Given the description of an element on the screen output the (x, y) to click on. 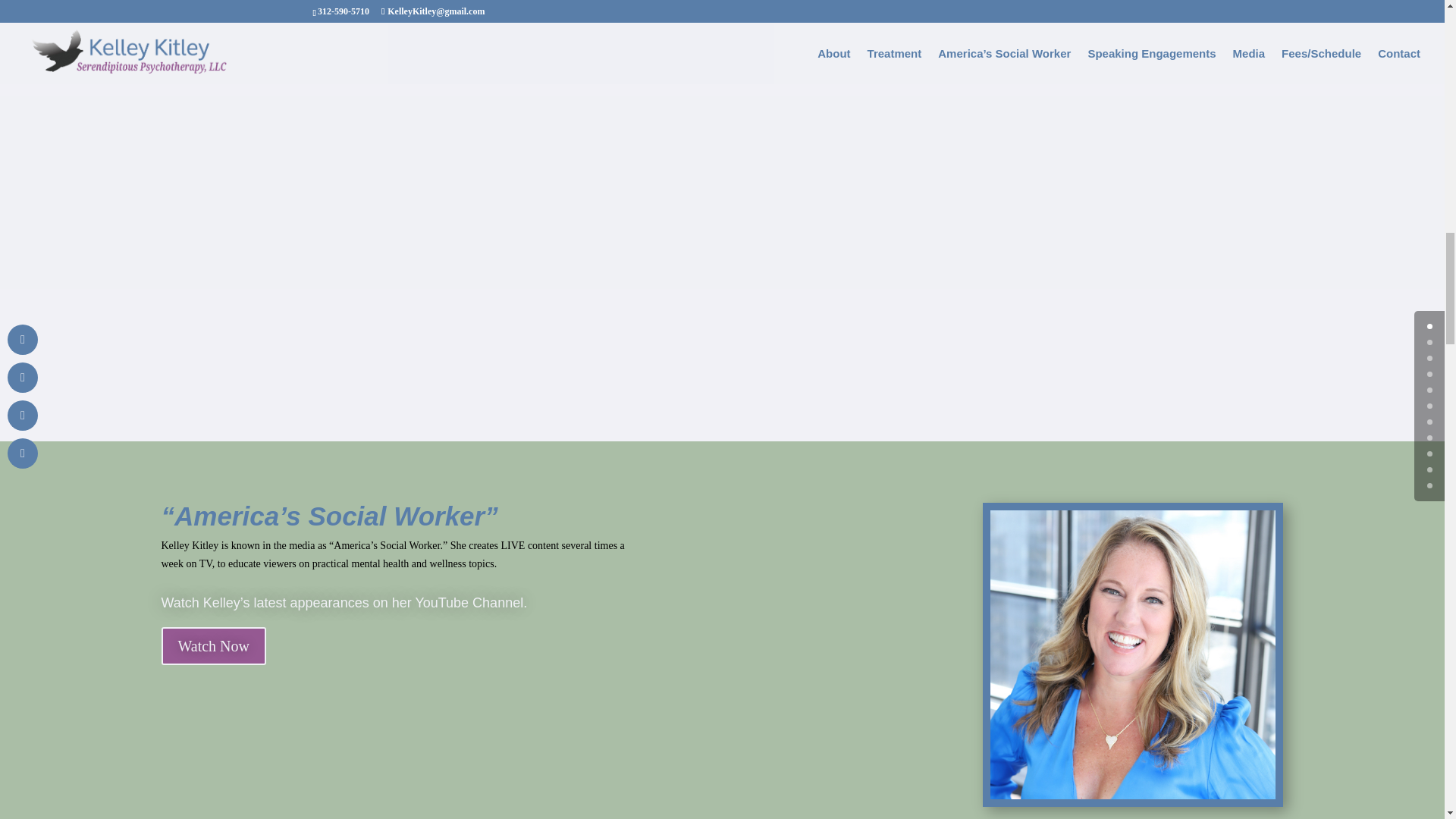
Watch Now (212, 646)
KKitley9706Cropped (1132, 654)
YouTube Channel. (470, 602)
